Given the description of an element on the screen output the (x, y) to click on. 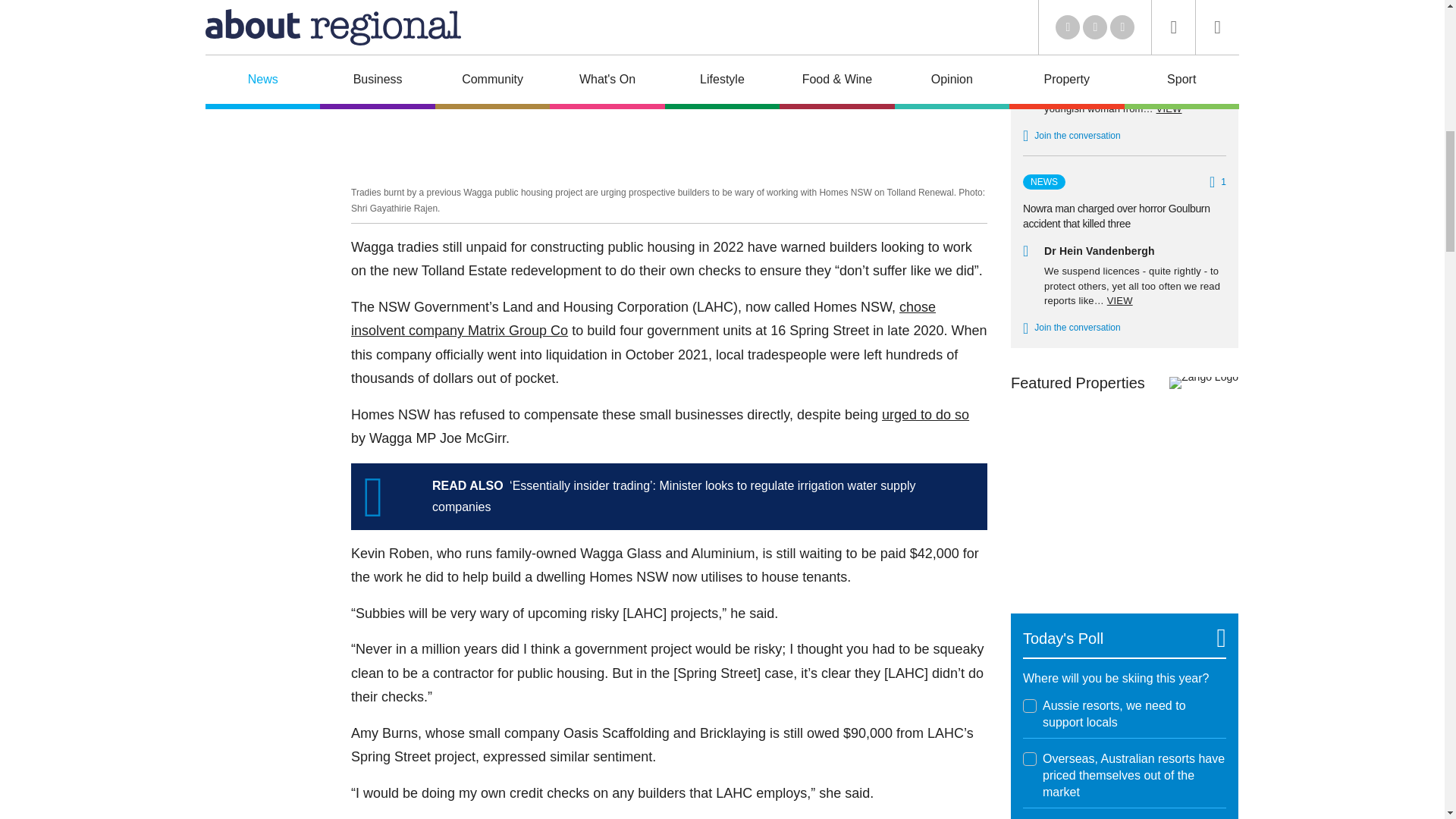
Zango (1204, 382)
Zango Sales (1124, 493)
22 (1029, 705)
23 (1029, 758)
